Given the description of an element on the screen output the (x, y) to click on. 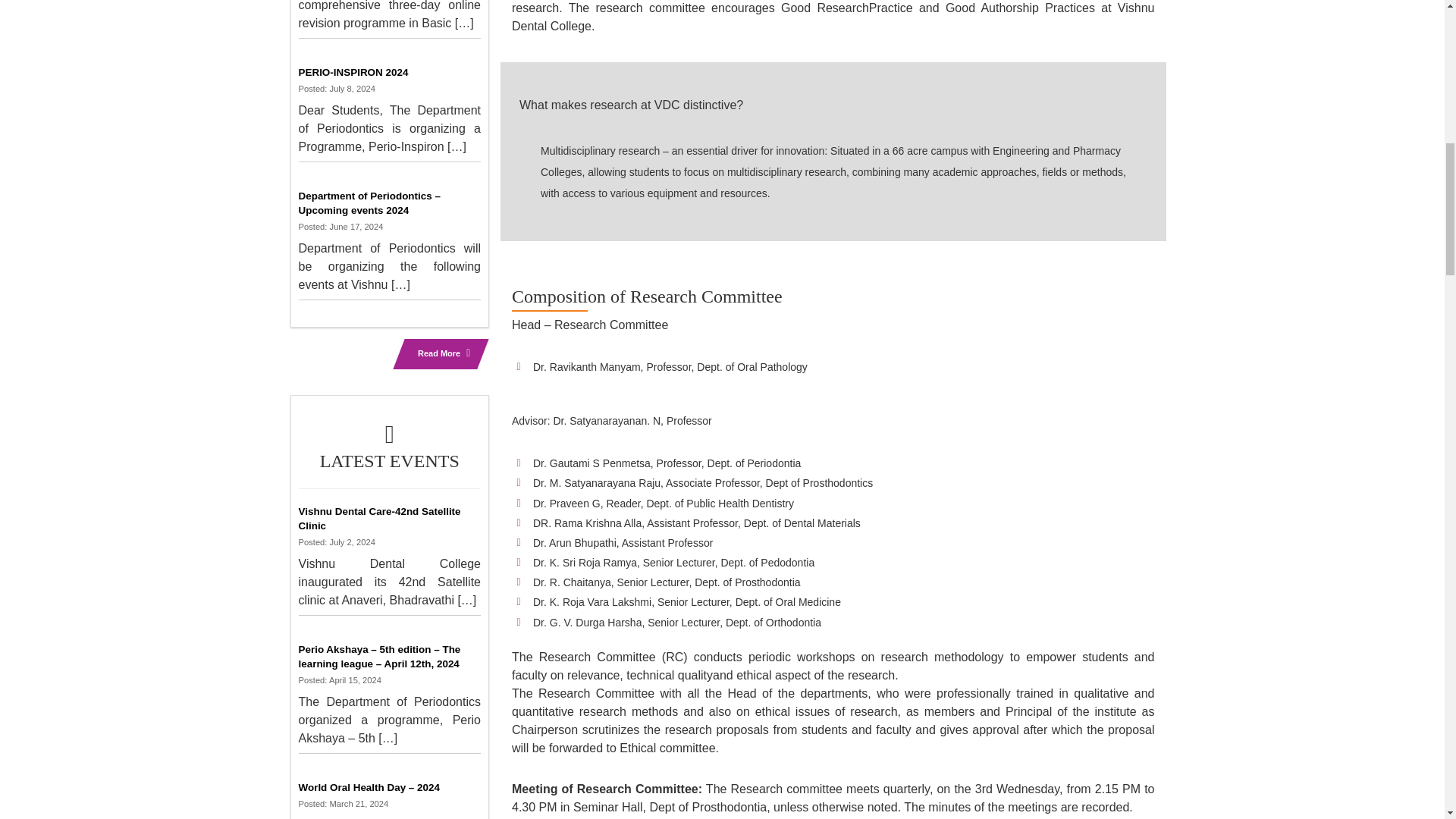
Back to Top (1414, 30)
